Given the description of an element on the screen output the (x, y) to click on. 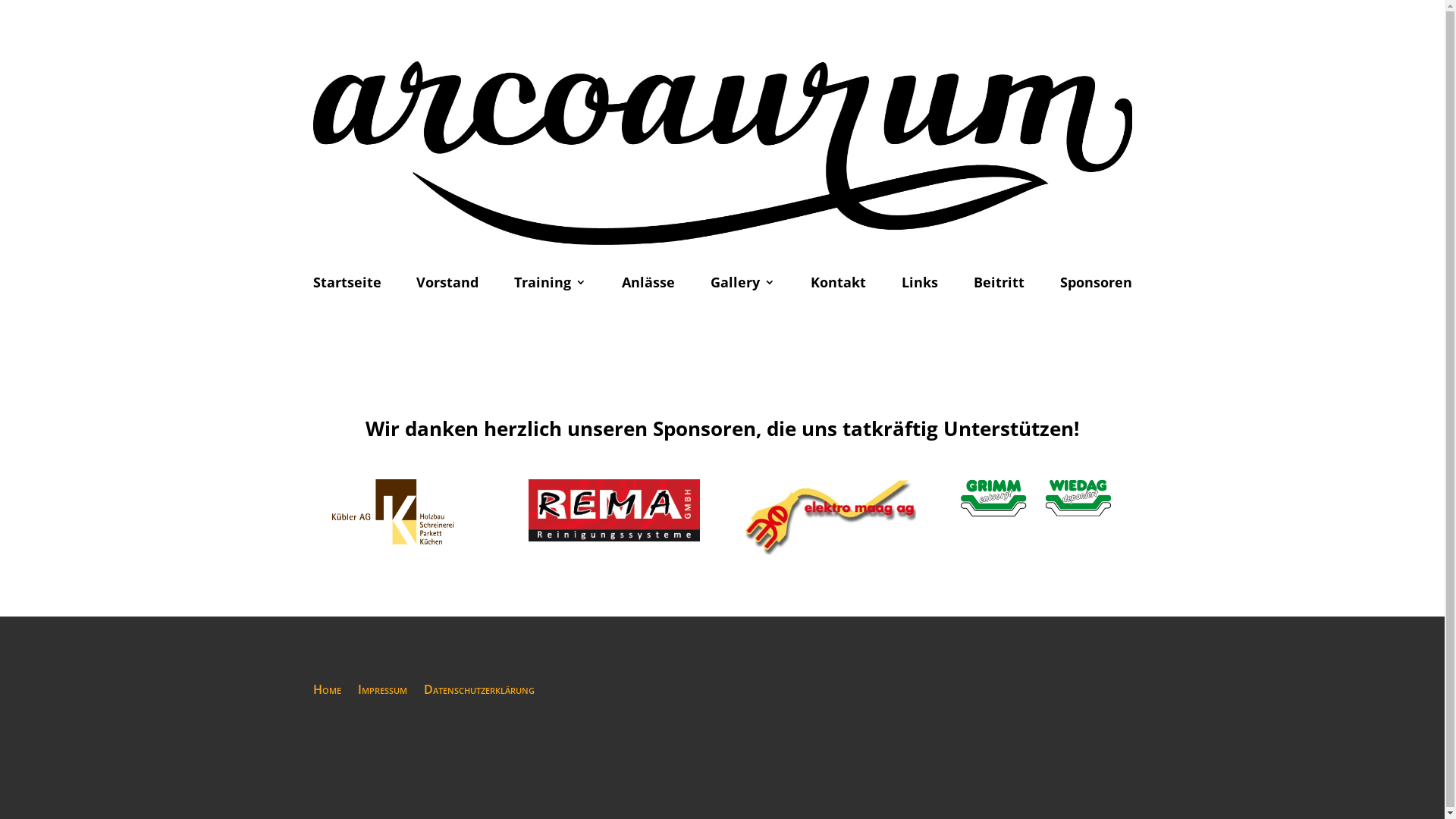
Grimm Logo Element type: hover (1036, 498)
Sponsoren Element type: text (1096, 285)
remaprodukte Element type: hover (613, 510)
elektromaag-logo-300-min Element type: hover (829, 517)
Training Element type: text (550, 285)
Kontakt Element type: text (838, 285)
Links Element type: text (919, 285)
Impressum Element type: text (382, 692)
Vorstand Element type: text (447, 285)
Startseite Element type: text (346, 285)
aa_Schriftzug_Schwarz_01 Element type: hover (721, 152)
Home Element type: text (326, 692)
Gallery Element type: text (742, 285)
Beitritt Element type: text (998, 285)
kuebler-logo Element type: hover (397, 511)
